Given the description of an element on the screen output the (x, y) to click on. 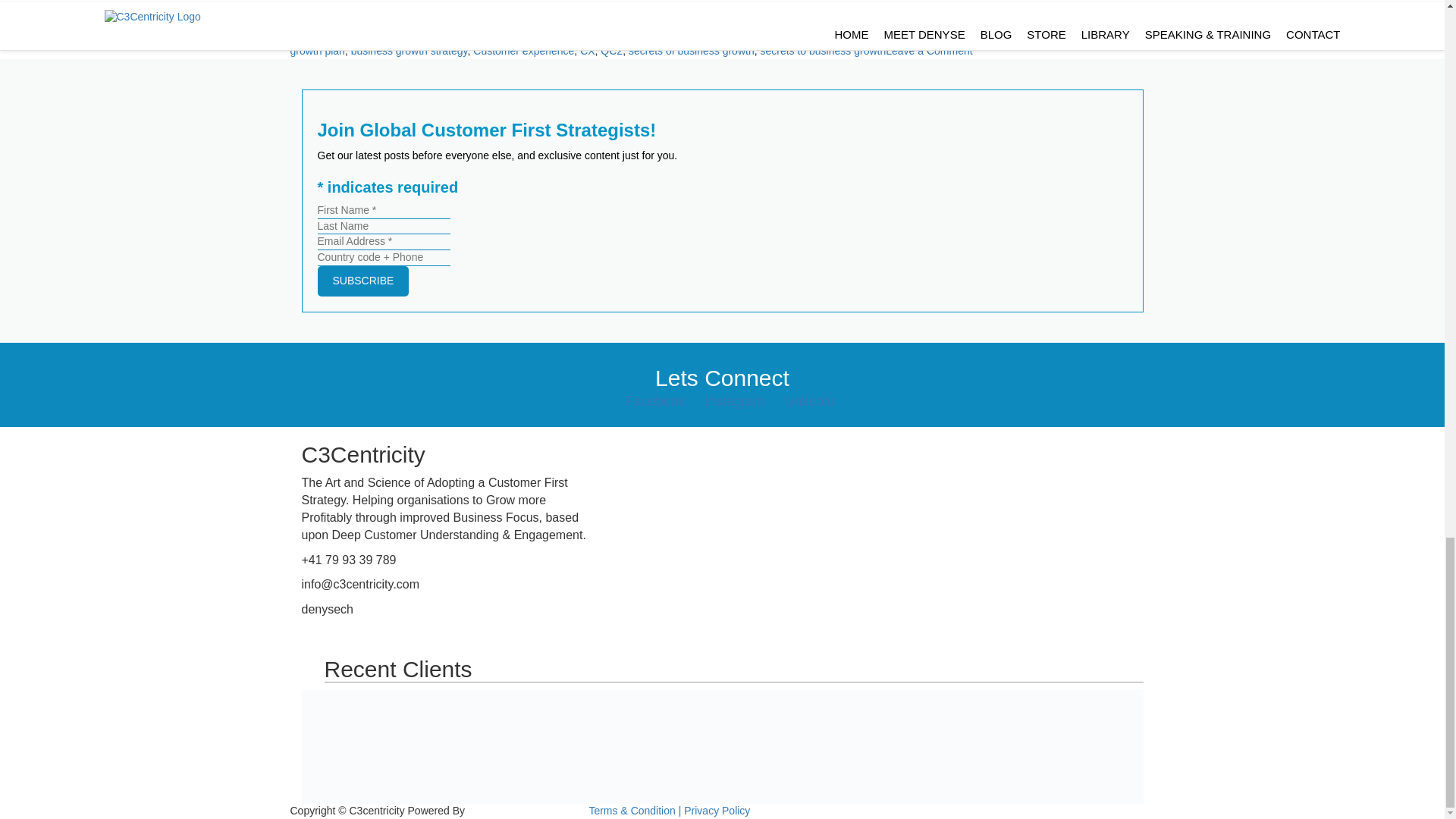
SUBSCRIBE (363, 281)
secrets to business growth (822, 50)
Customer experience (523, 50)
secrets of business growth (691, 50)
Cornerstone content (460, 35)
business growth examples (1033, 35)
brand building (848, 35)
CX (586, 50)
business growth strategy (408, 50)
Click to continue reading (1077, 11)
business growth plan (716, 42)
Customer Centric Business (578, 35)
QC2 (611, 50)
Brand Building (371, 35)
